Given the description of an element on the screen output the (x, y) to click on. 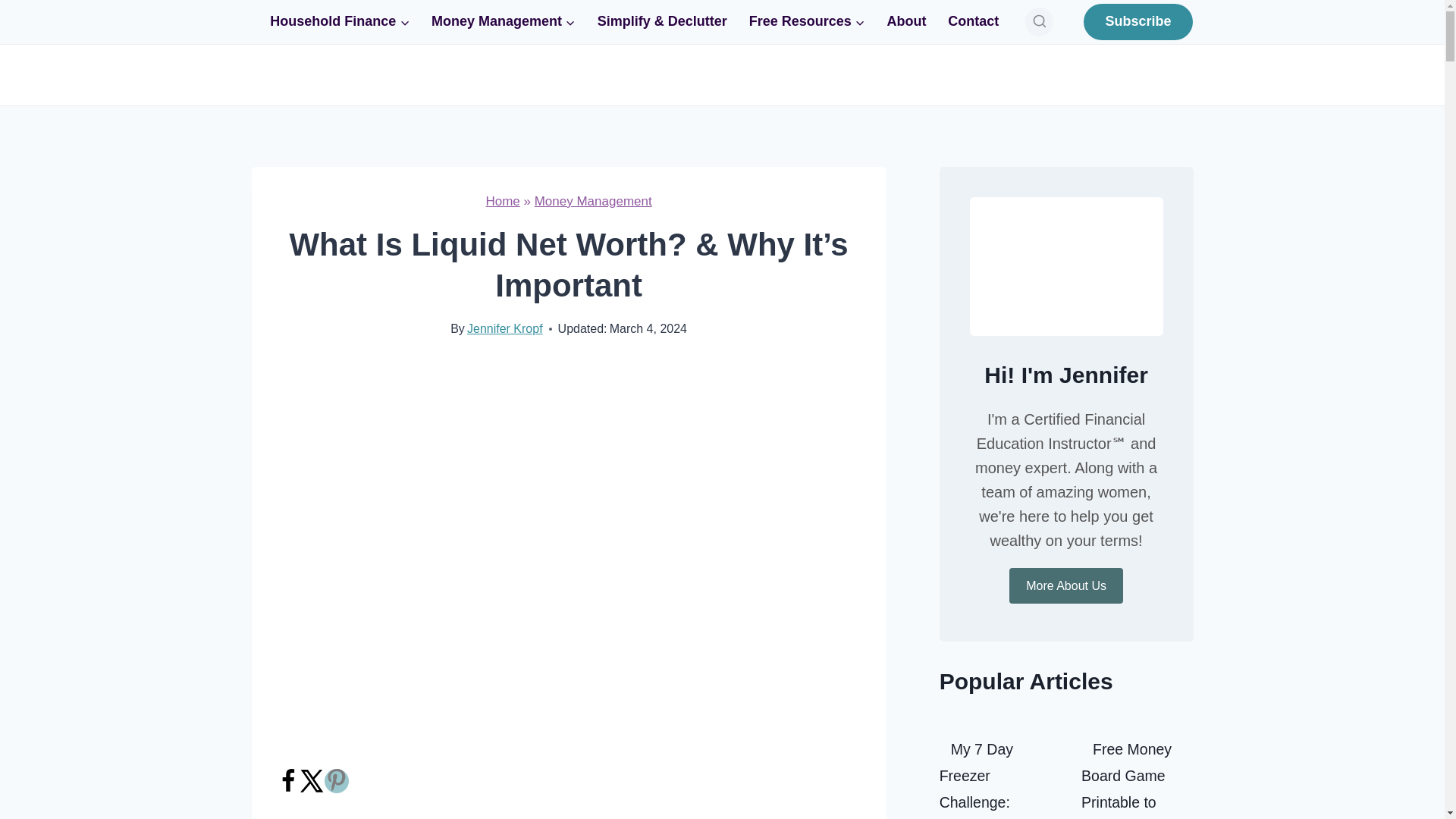
Money Management (593, 201)
Share on X (311, 788)
Contact (973, 20)
Home (501, 201)
Subscribe (1137, 22)
Save to Pinterest (336, 781)
About (906, 20)
Free Resources (807, 20)
Jennifer Kropf (505, 328)
Share on Facebook (287, 788)
Household Finance (339, 20)
Money Management (503, 20)
